Given the description of an element on the screen output the (x, y) to click on. 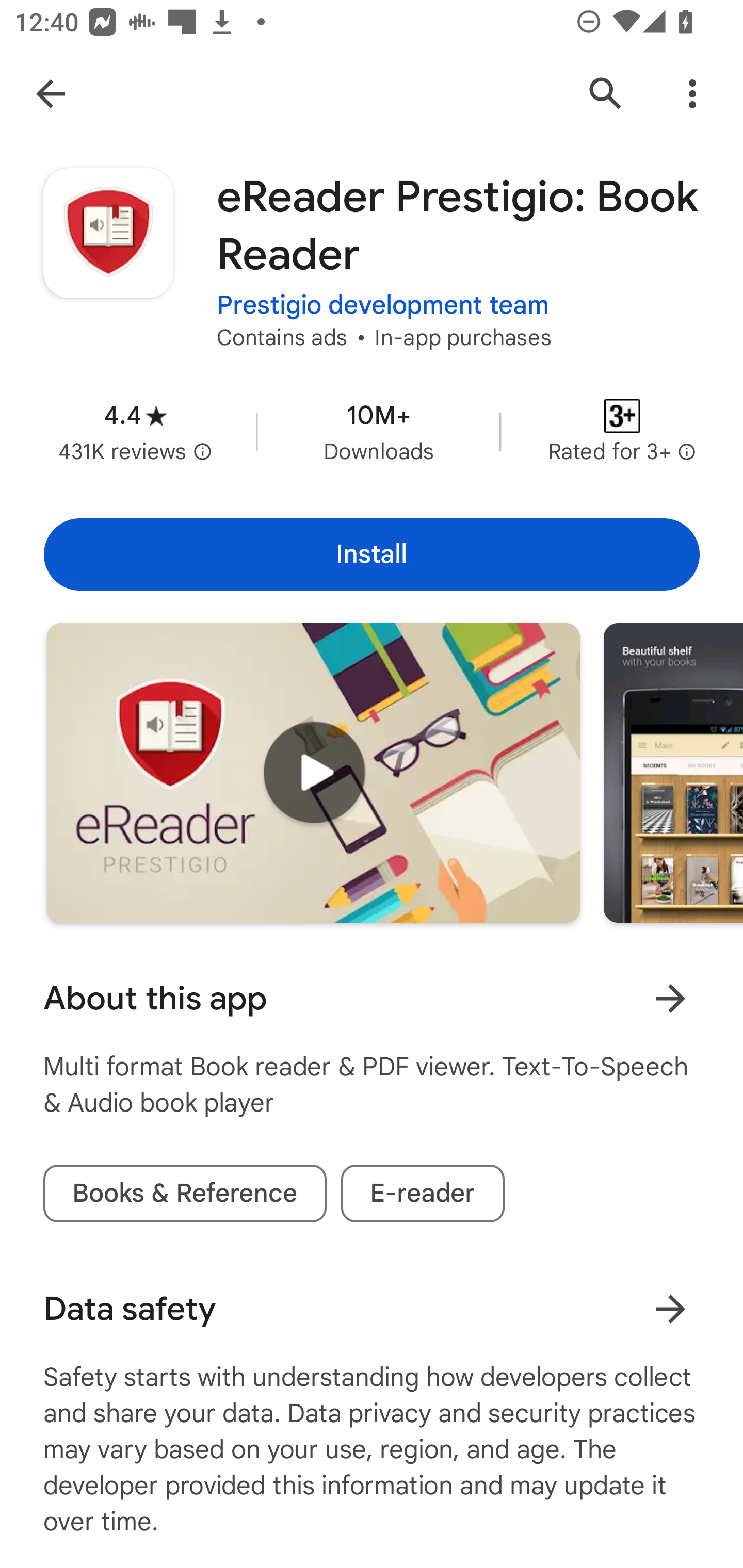
Navigate up (50, 93)
Search Google Play (605, 93)
More Options (692, 93)
Prestigio development team (382, 304)
Average rating 4.4 stars in 431 thousand reviews (135, 431)
Content rating Rated for 3+ (622, 431)
Install (371, 554)
Play trailer for "eReader Prestigio: Book Reader" (313, 771)
About this app Learn more About this app (371, 998)
Learn more About this app (670, 997)
Books & Reference tag (184, 1193)
E-reader tag (422, 1193)
Data safety Learn more about data safety (371, 1309)
Learn more about data safety (670, 1308)
